Given the description of an element on the screen output the (x, y) to click on. 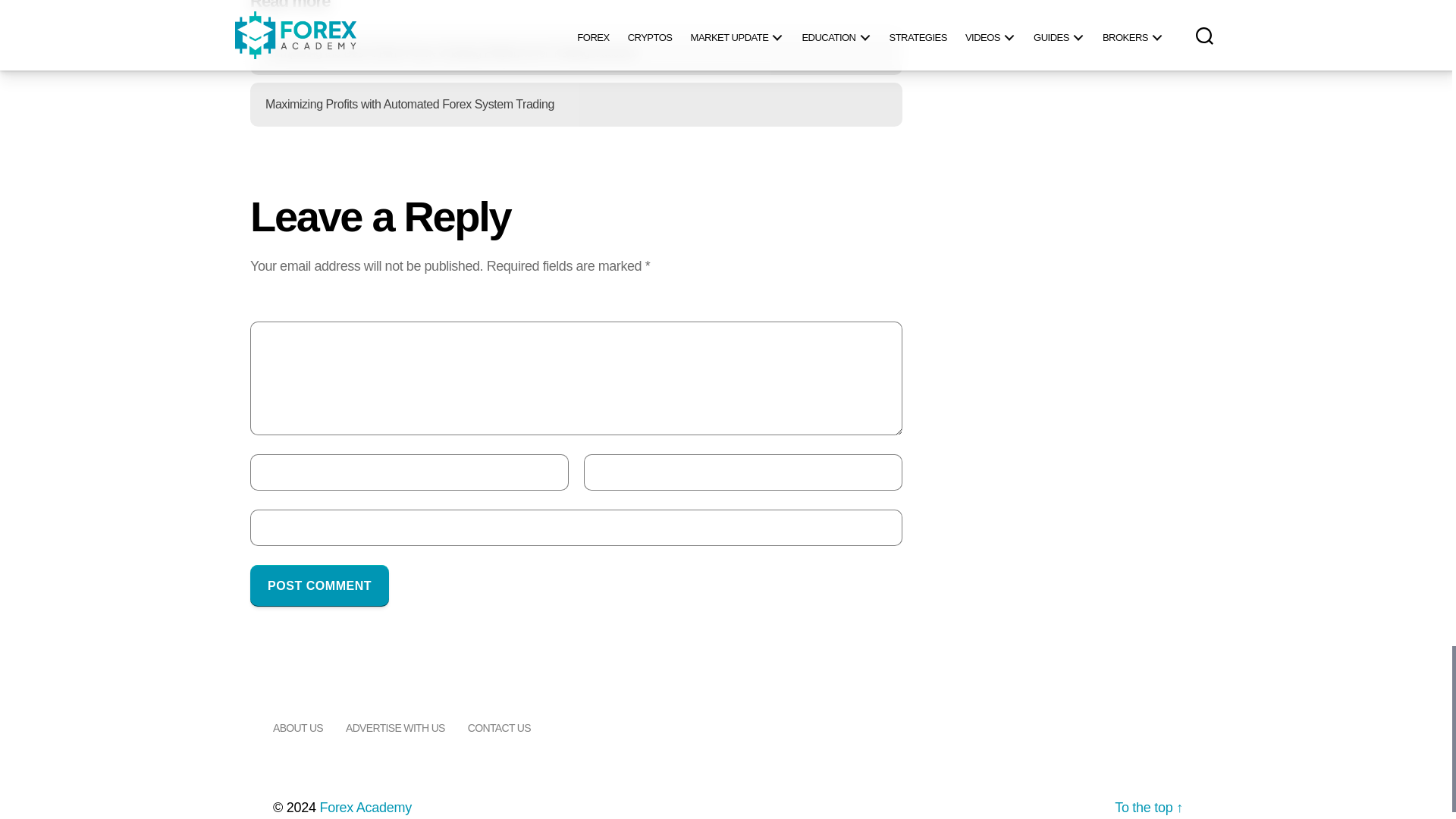
Post Comment (319, 585)
